Given the description of an element on the screen output the (x, y) to click on. 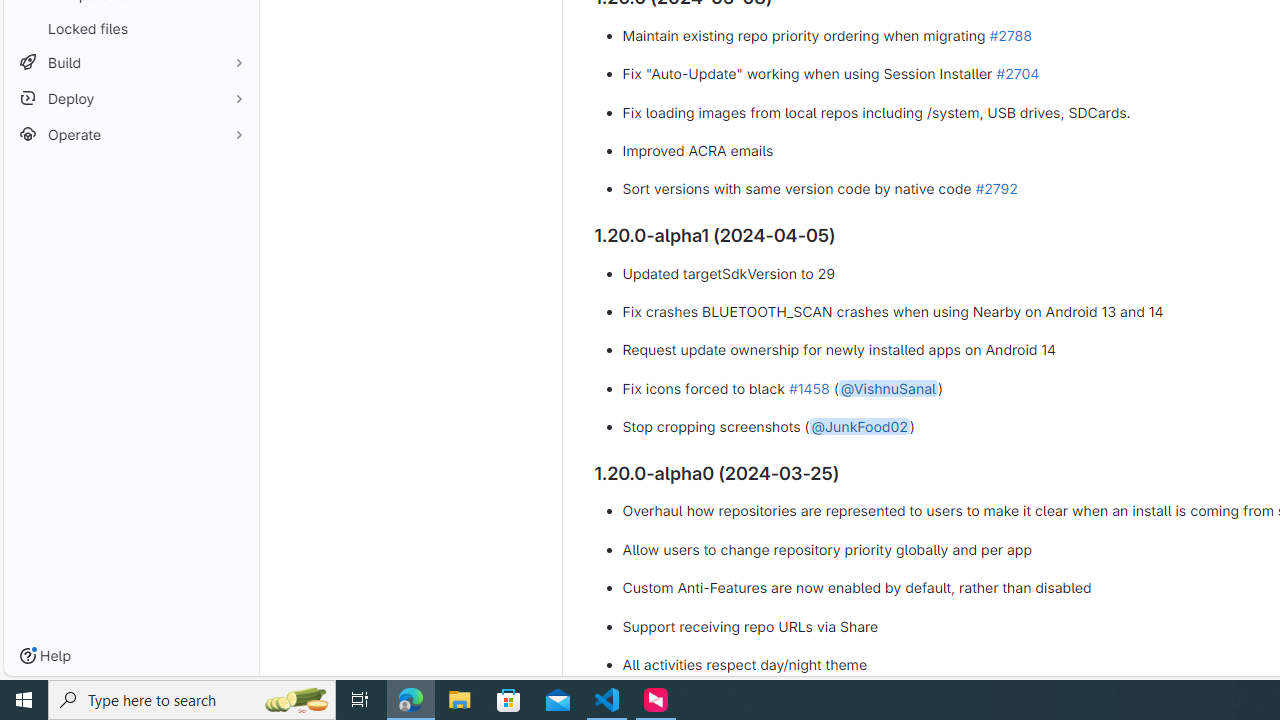
#1458 (808, 387)
